Given the description of an element on the screen output the (x, y) to click on. 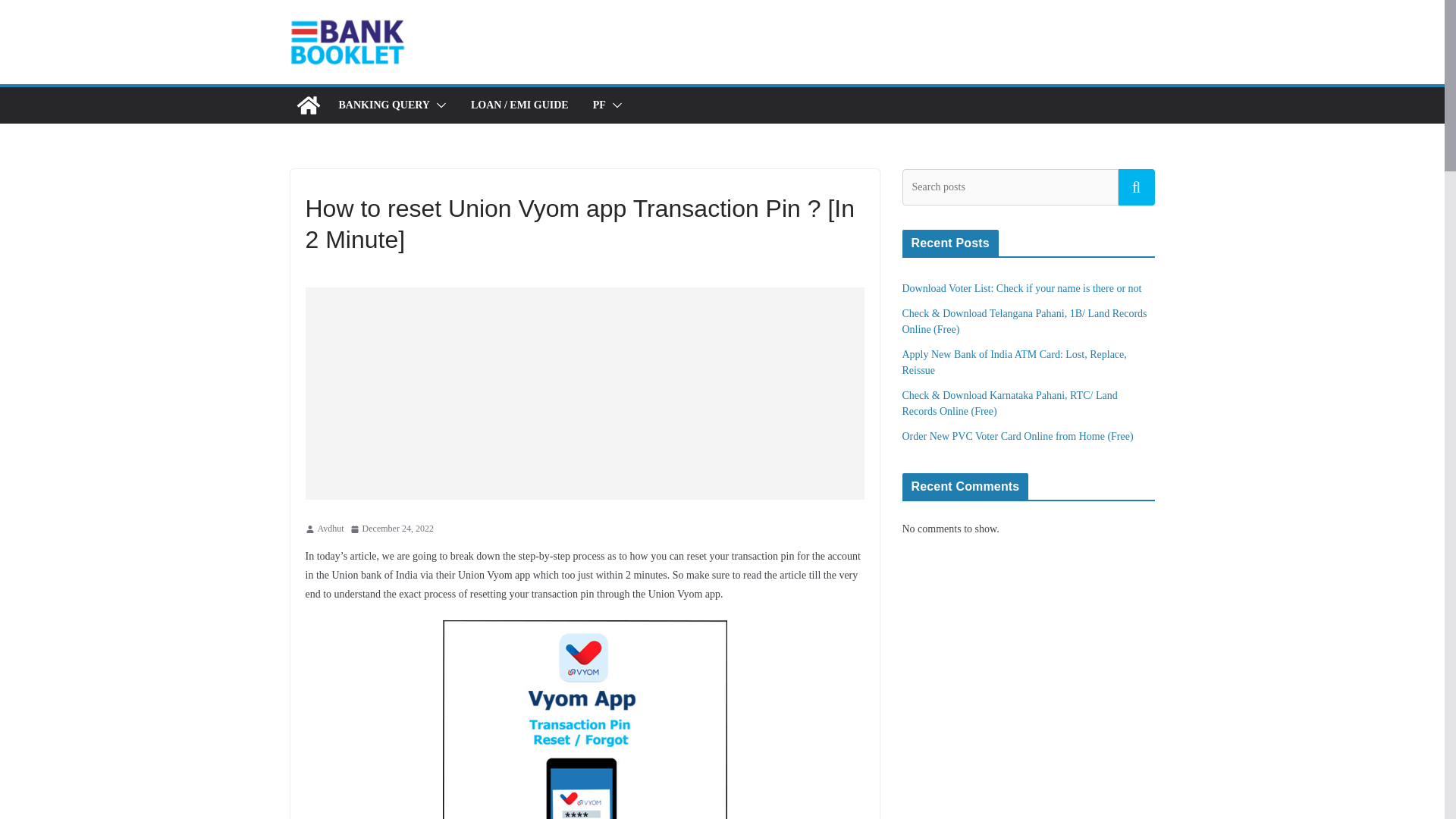
Download Voter List: Check if your name is there or not (1021, 288)
Avdhut (330, 528)
December 24, 2022 (391, 528)
Avdhut (330, 528)
BankBooklet.com (307, 104)
Apply New Bank of India ATM Card: Lost, Replace, Reissue (1014, 361)
Search (1136, 186)
5:26 pm (391, 528)
BANKING QUERY (383, 105)
Advertisement (594, 393)
